Given the description of an element on the screen output the (x, y) to click on. 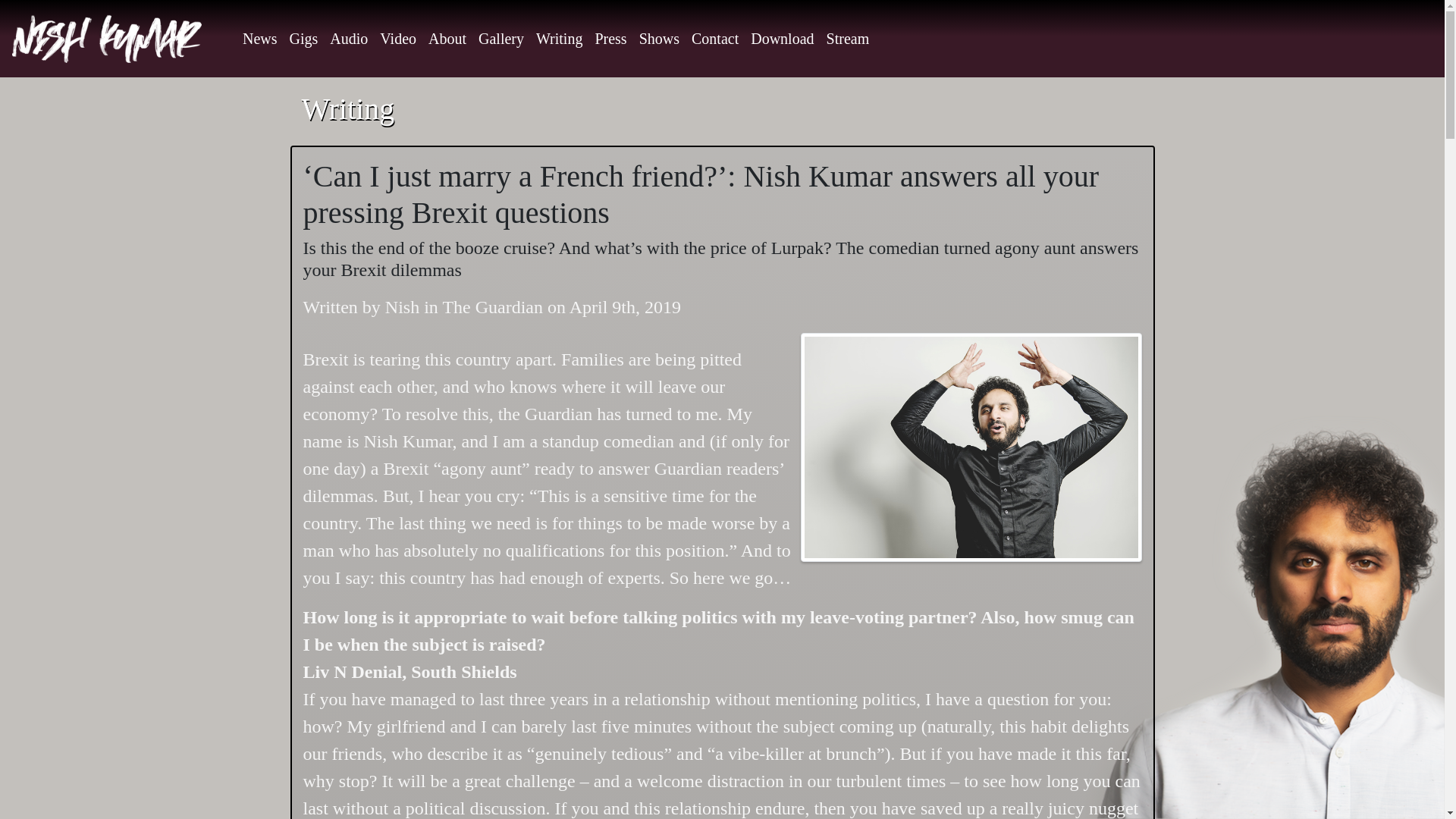
Audio (349, 38)
About (446, 38)
Writing (558, 38)
News (260, 38)
Audio (349, 38)
Gallery (501, 38)
Stream (848, 38)
Stream (848, 38)
Video (398, 38)
Contact (714, 38)
Shows (659, 38)
Gallery (501, 38)
Press (610, 38)
Video (398, 38)
Press (610, 38)
